Given the description of an element on the screen output the (x, y) to click on. 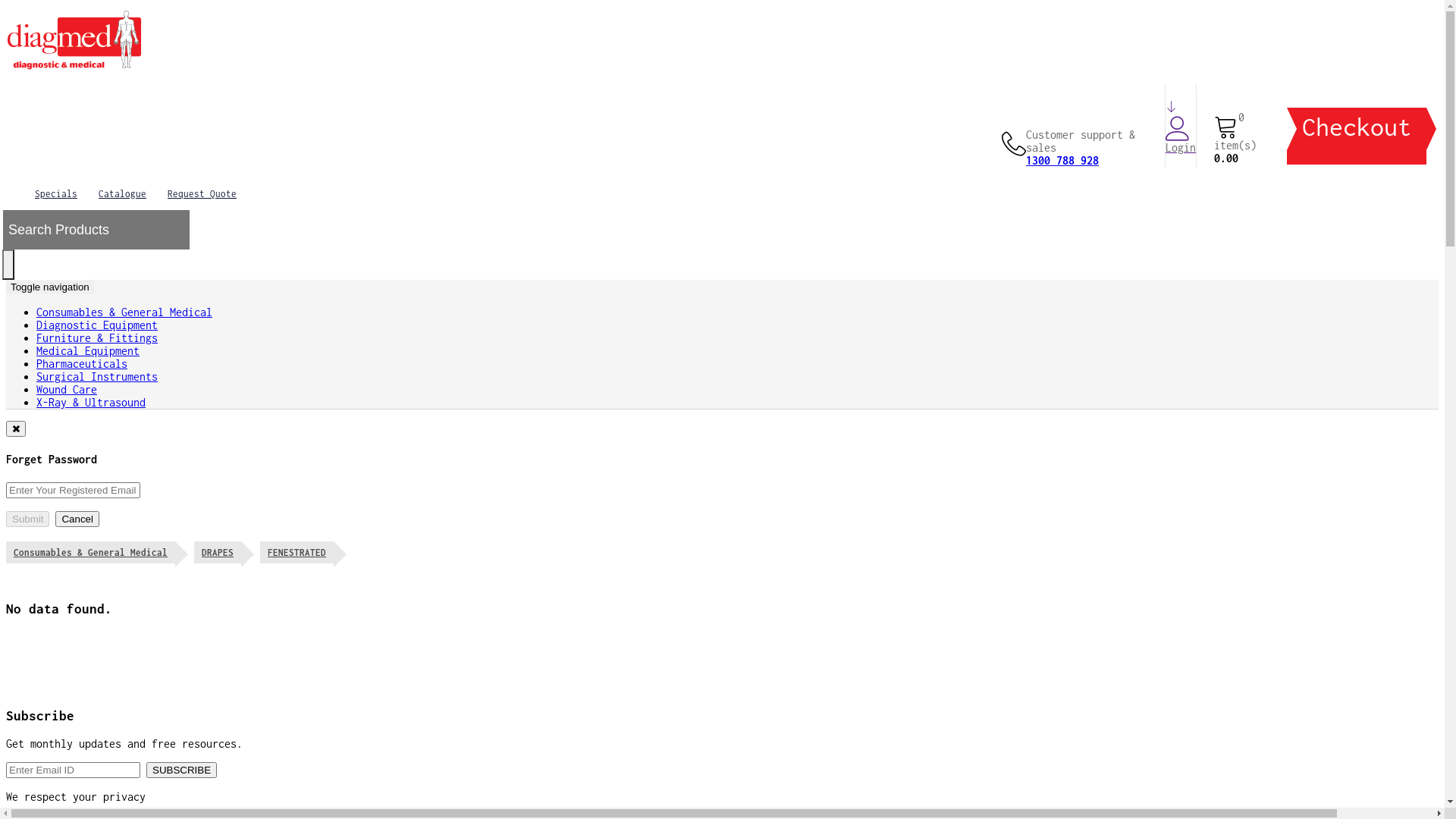
DRAPES Element type: text (217, 552)
Submit Element type: text (21, 7)
Cancel Element type: text (77, 519)
Toggle navigation Element type: text (50, 286)
Consumables & General Medical Element type: text (124, 311)
FENESTRATED Element type: text (296, 552)
Diagmed Element type: hover (74, 40)
Submit Element type: text (27, 519)
Checkout Element type: text (1356, 135)
Diagnostic Equipment Element type: text (96, 324)
Pharmaceuticals Element type: text (81, 363)
Login Element type: text (1180, 125)
Specials Element type: text (55, 193)
X-Ray & Ultrasound Element type: text (90, 401)
Wound Care Element type: text (66, 388)
Surgical Instruments Element type: text (96, 376)
Medical Equipment Element type: text (87, 350)
Furniture & Fittings Element type: text (96, 337)
SUBSCRIBE Element type: text (181, 770)
Catalogue Element type: text (122, 193)
1300 788 928 Element type: text (1062, 159)
0 item(s)
0.00 Element type: text (1241, 137)
Downloads Forms in PDF Element type: hover (257, 185)
Request Quote Element type: text (202, 193)
Consumables & General Medical Element type: text (90, 552)
